Given the description of an element on the screen output the (x, y) to click on. 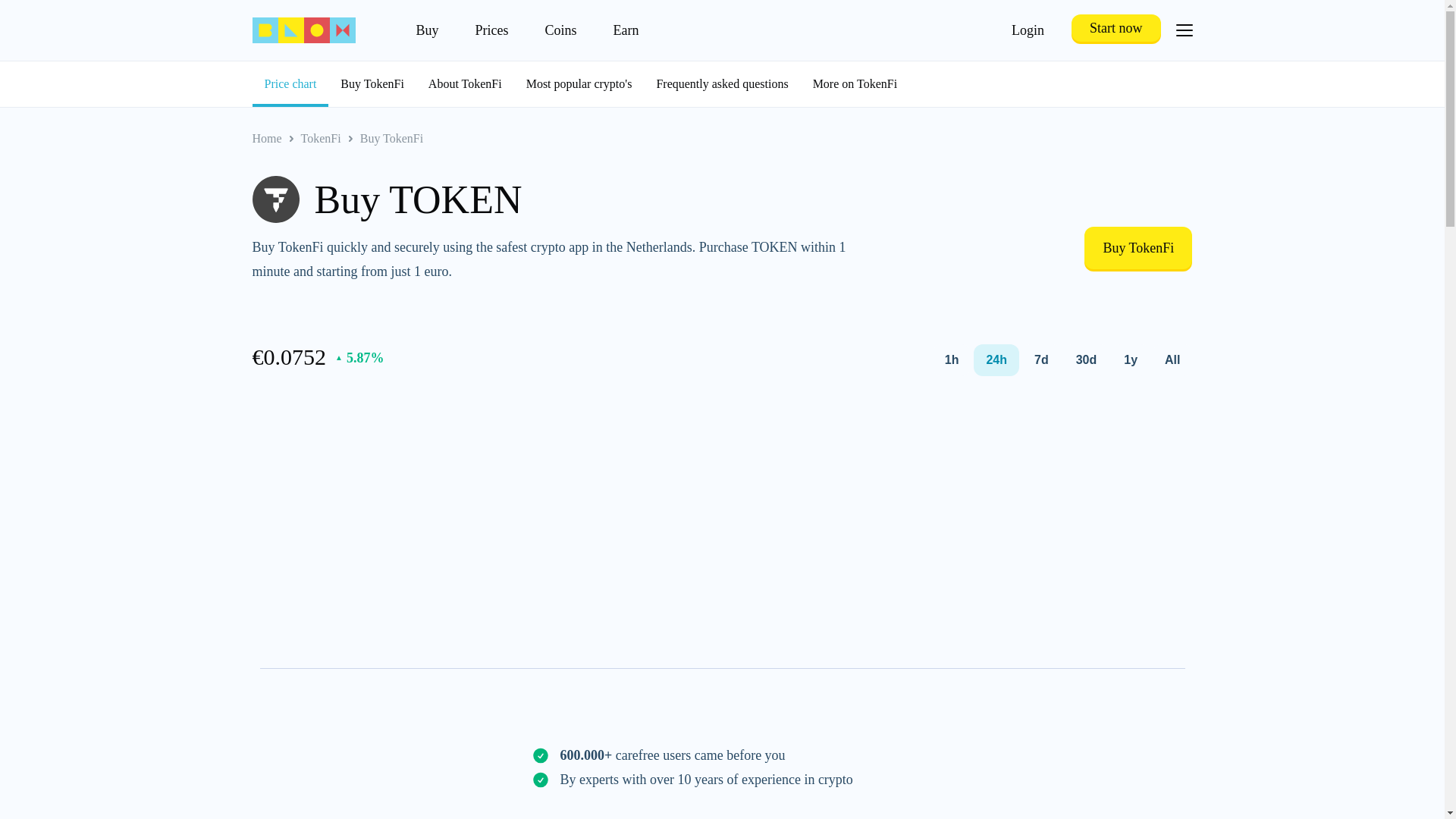
Buy (426, 29)
About TokenFi (464, 84)
Buy TokenFi (371, 84)
Most popular crypto's (579, 84)
Price chart (290, 84)
Login (1027, 29)
Coins (560, 29)
Start now (1115, 30)
Frequently asked questions (721, 84)
More on TokenFi (854, 84)
Earn (625, 29)
Prices (492, 29)
